Given the description of an element on the screen output the (x, y) to click on. 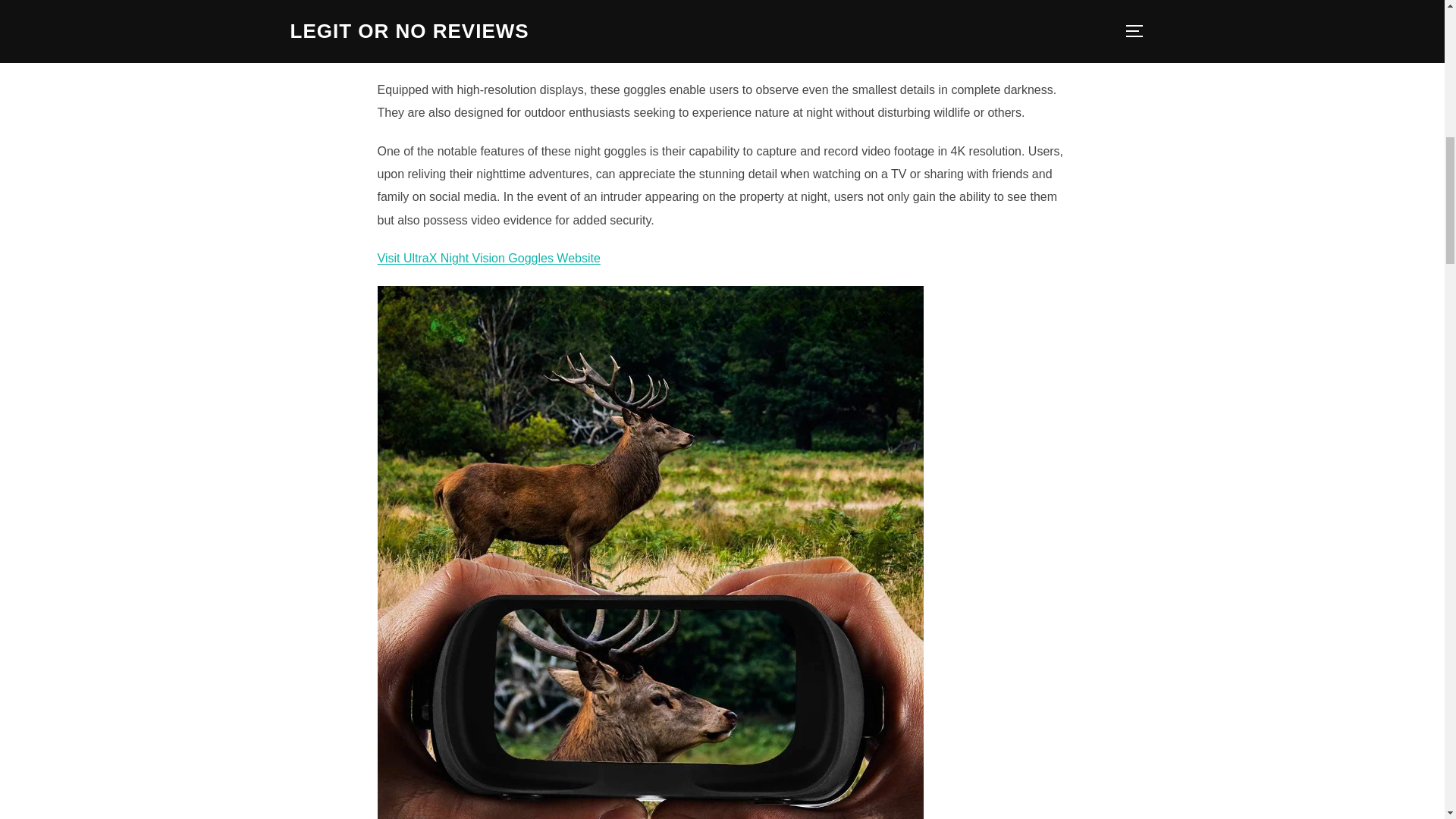
Visit UltraX Night Vision Goggles Website (488, 257)
